Given the description of an element on the screen output the (x, y) to click on. 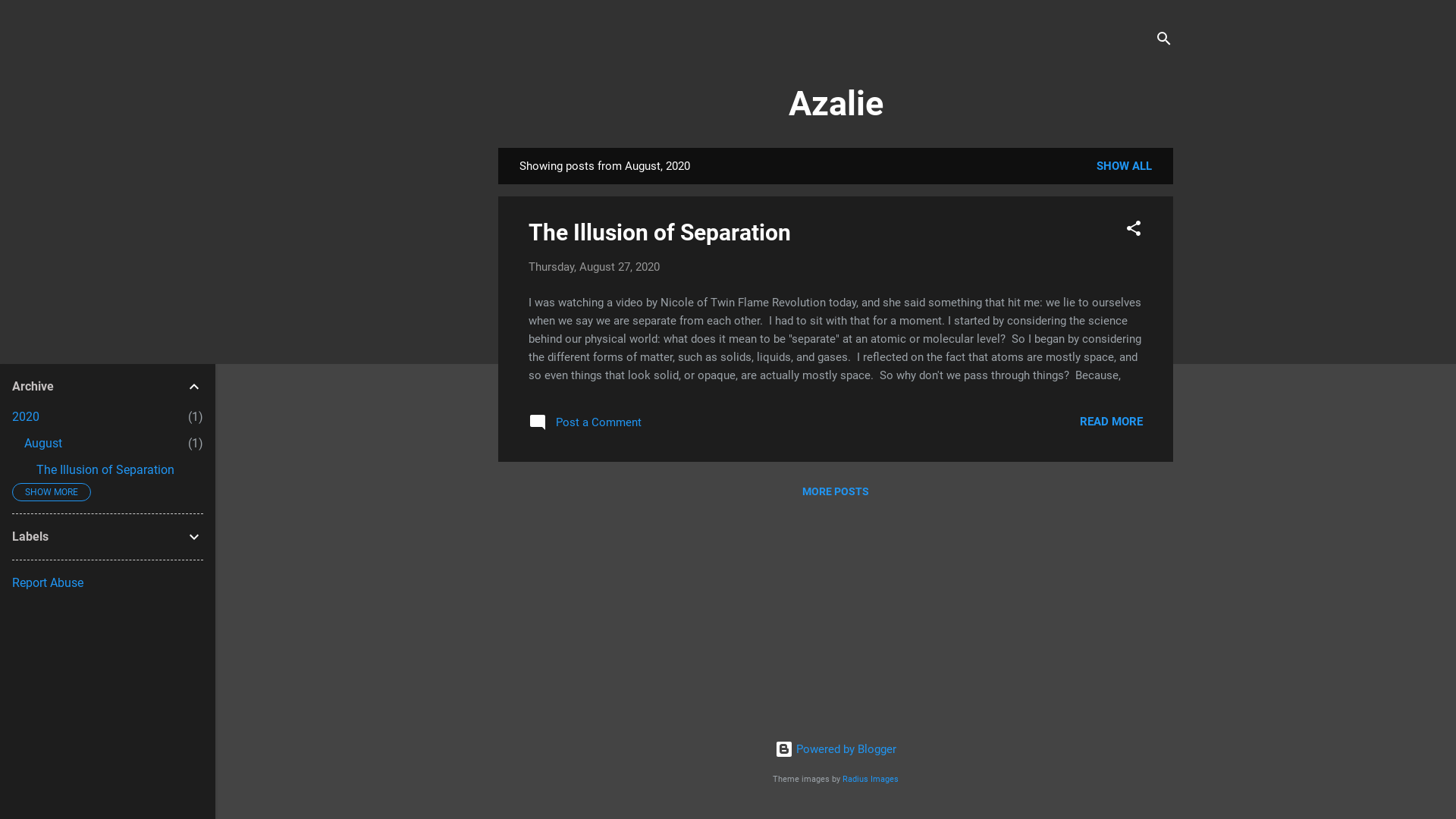
Report Abuse Element type: text (47, 582)
READ MORE Element type: text (1110, 421)
August
1 Element type: text (43, 443)
2020
1 Element type: text (25, 416)
MORE POSTS Element type: text (835, 491)
The Illusion of Separation Element type: text (105, 469)
Post a Comment Element type: text (584, 426)
SHOW ALL Element type: text (1123, 165)
Azalie Element type: text (835, 103)
Radius Images Element type: text (870, 779)
Search Element type: text (28, 18)
Powered by Blogger Element type: text (835, 749)
Thursday, August 27, 2020 Element type: text (593, 266)
The Illusion of Separation Element type: text (659, 232)
